Given the description of an element on the screen output the (x, y) to click on. 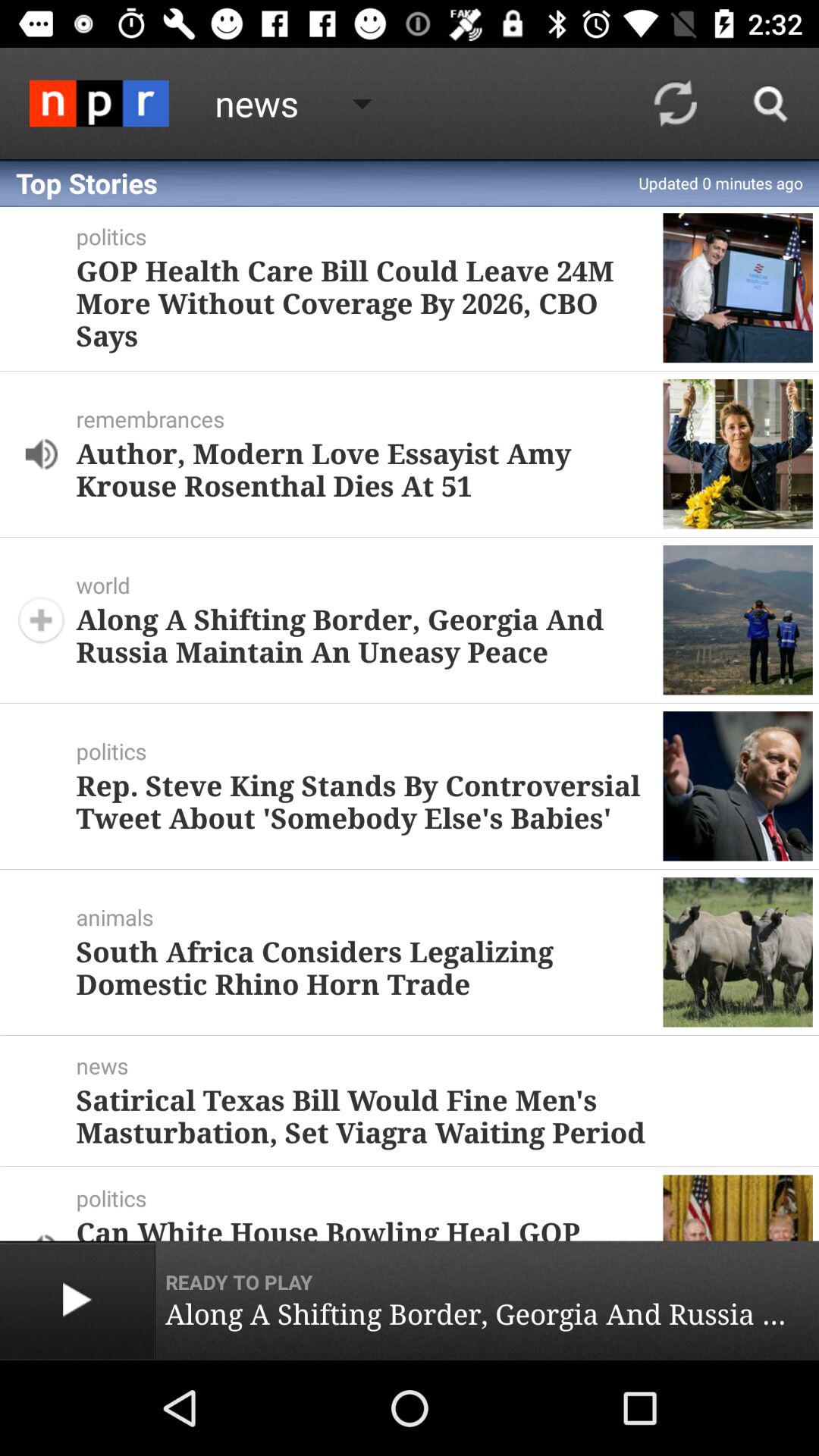
select the item to the left of the news icon (98, 103)
